Given the description of an element on the screen output the (x, y) to click on. 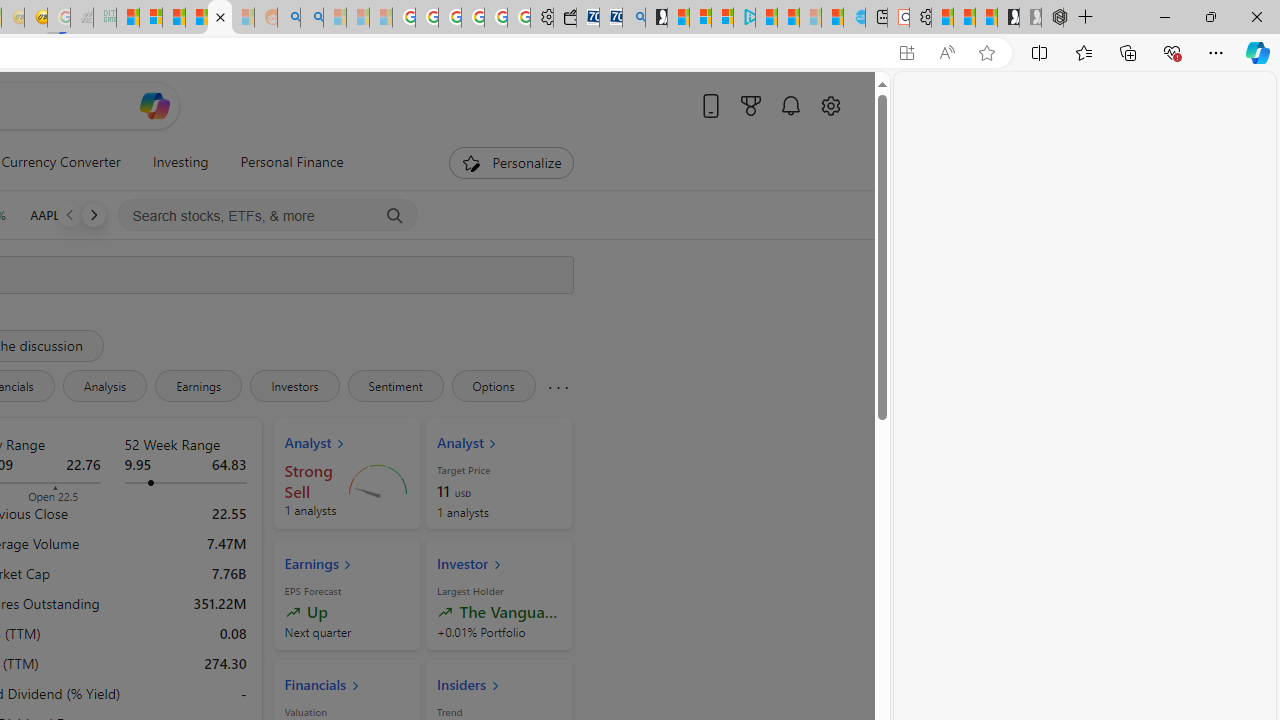
Navy Quest (81, 17)
Investing (180, 162)
Utah sues federal government - Search (311, 17)
AAPL APPLE INC. decrease 224.53 -1.87 -0.83% (75, 214)
